Given the description of an element on the screen output the (x, y) to click on. 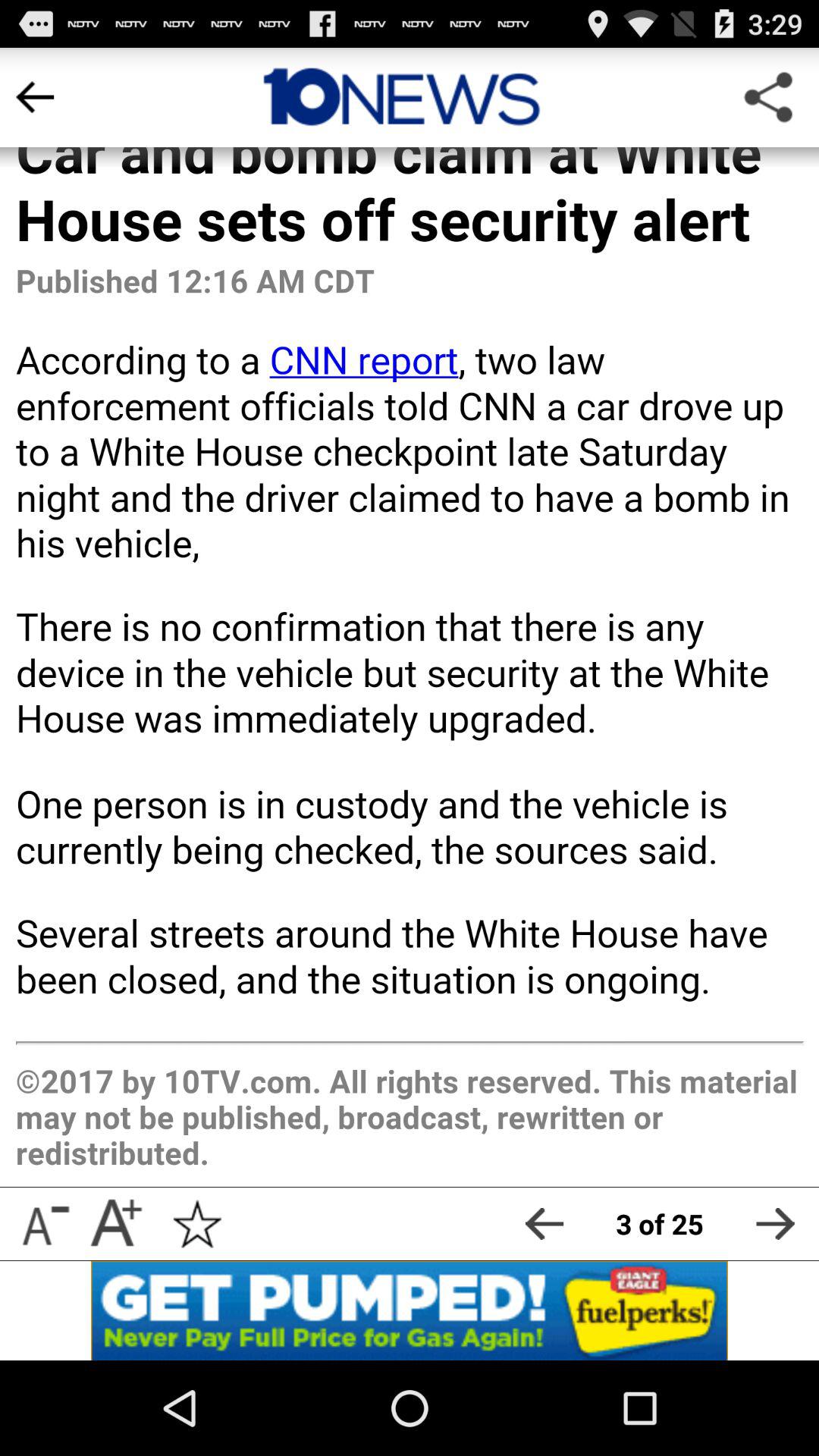
make font size smaller (43, 1223)
